Given the description of an element on the screen output the (x, y) to click on. 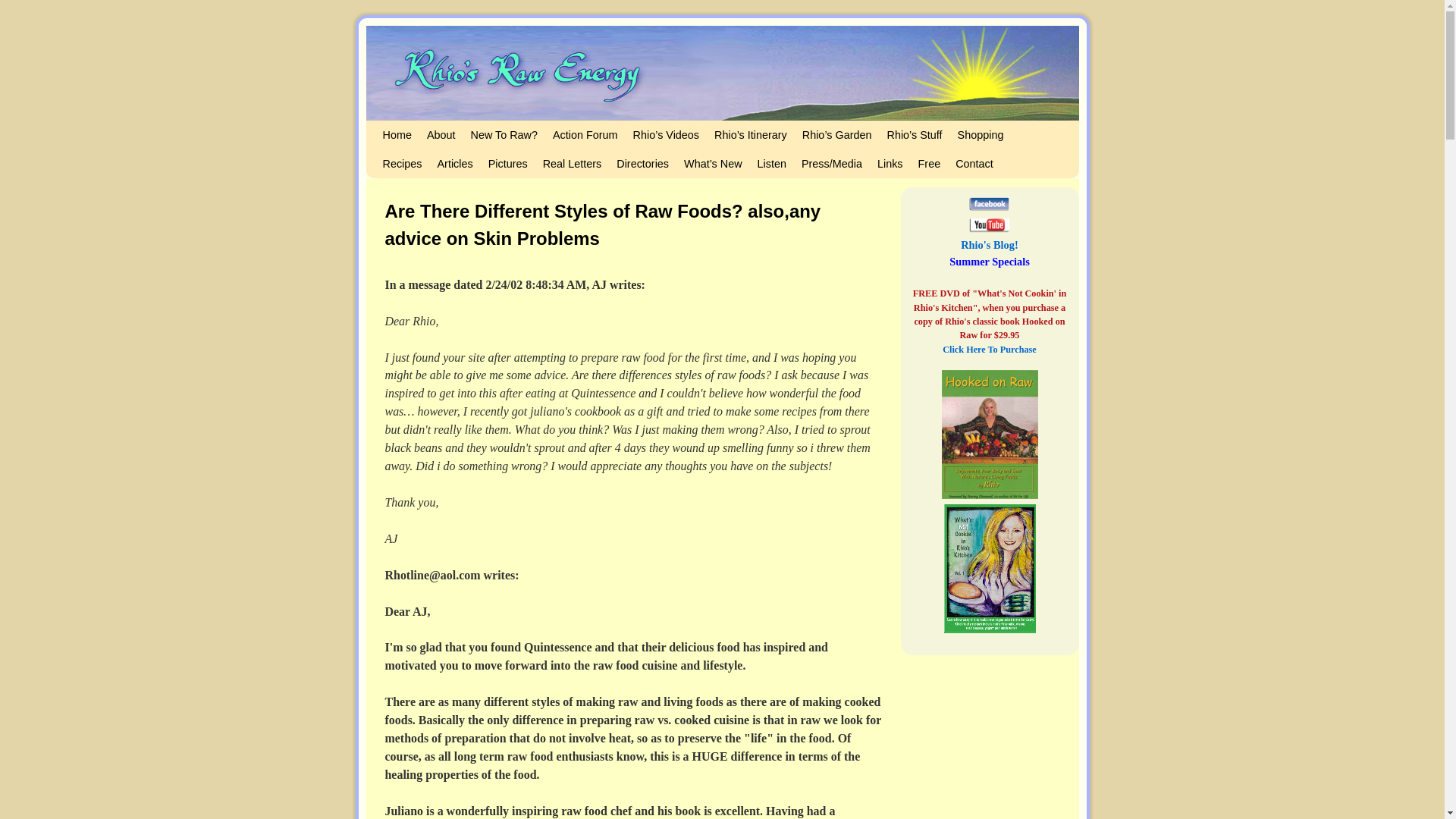
Shopping (980, 134)
Articles (454, 163)
Click Here To Purchase (989, 348)
from Real People (572, 163)
Links (890, 163)
Action Forum (585, 134)
Skip to primary content (408, 127)
New To Raw? (503, 134)
Listen (771, 163)
Rhio's Blog! (988, 244)
Pictures (507, 163)
Skip to secondary content (412, 127)
Directories (642, 163)
Real Letters (572, 163)
About (441, 134)
